Given the description of an element on the screen output the (x, y) to click on. 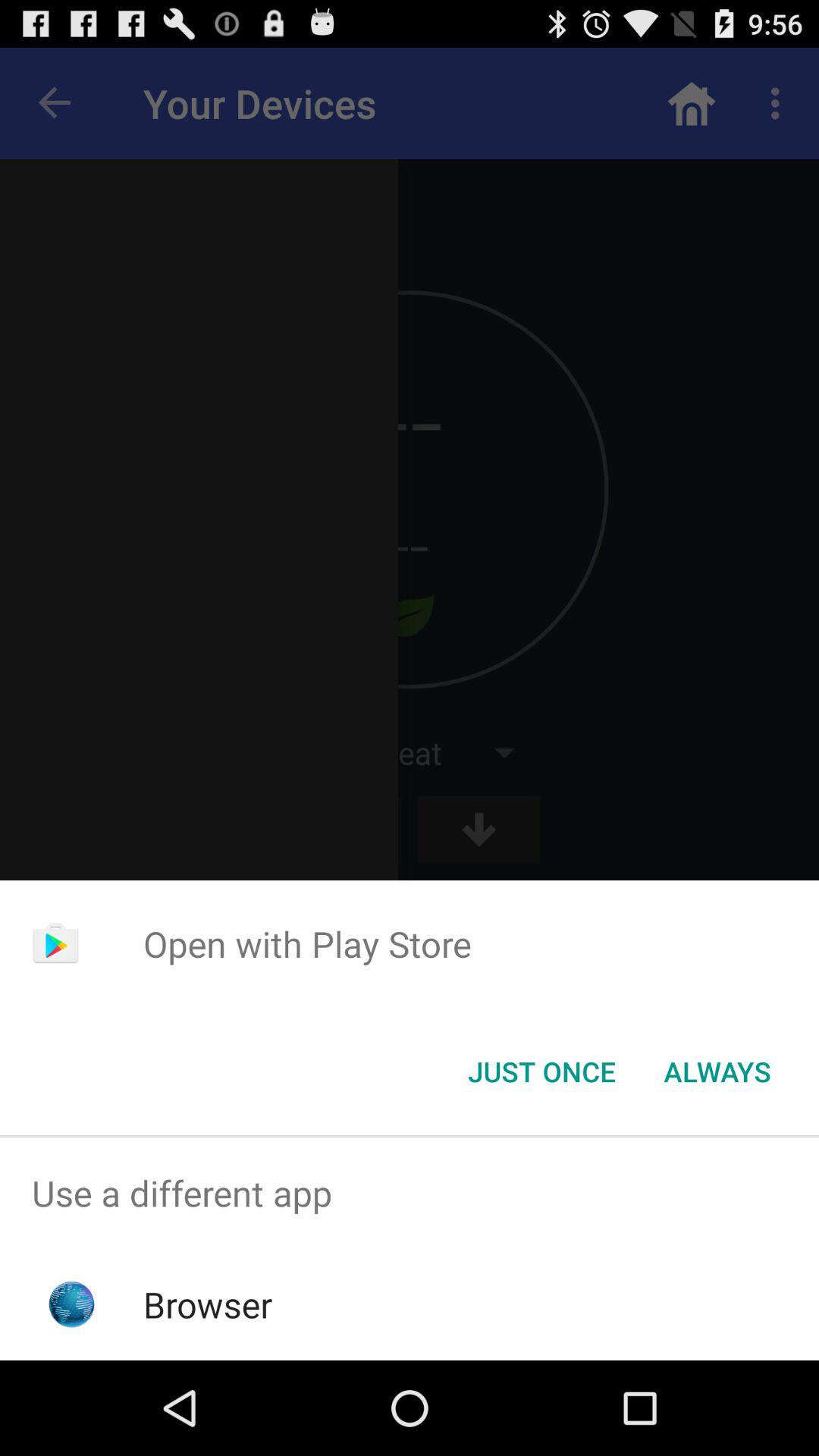
select icon below the open with play icon (541, 1071)
